Given the description of an element on the screen output the (x, y) to click on. 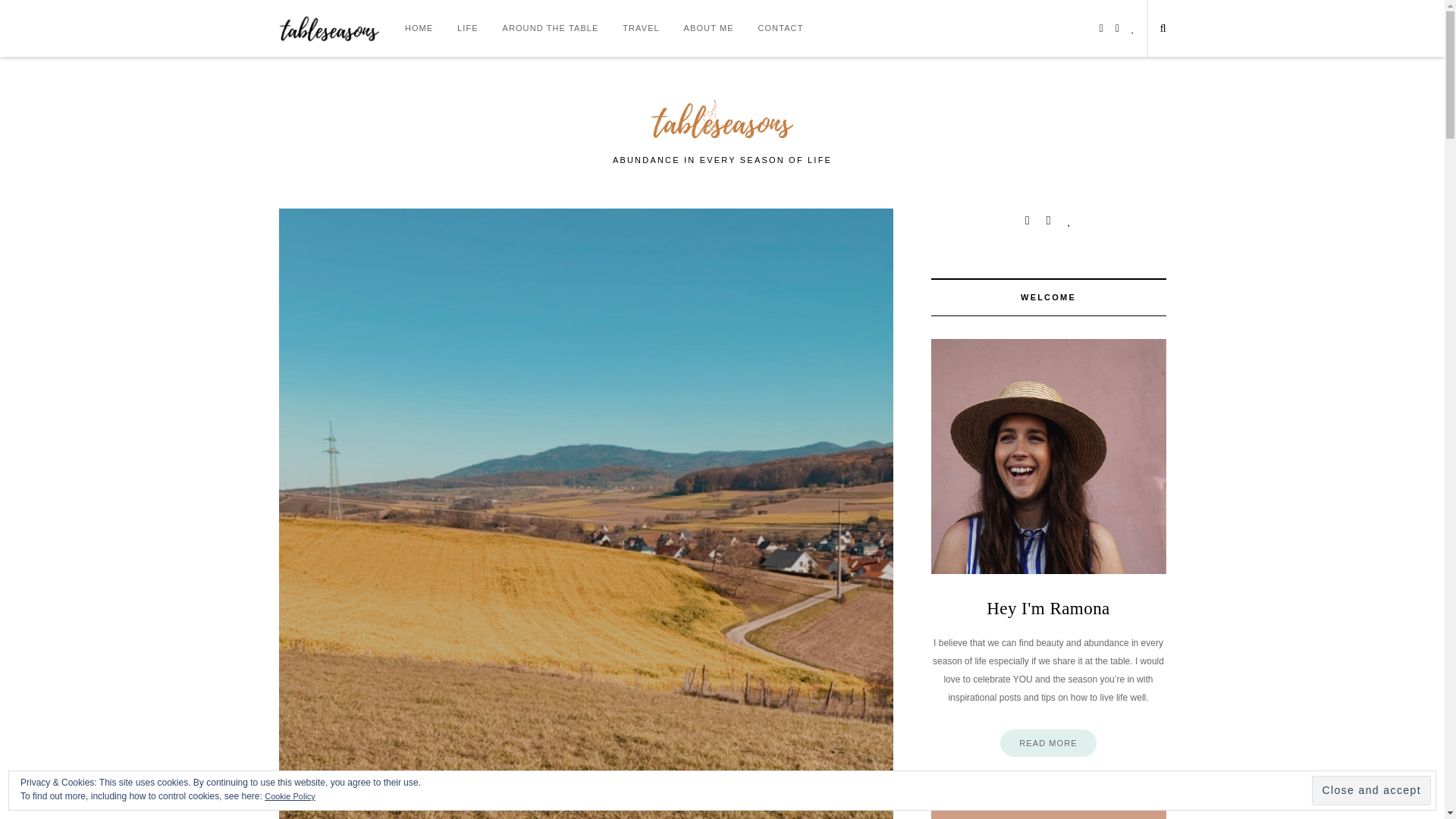
ABOUT ME (708, 28)
AROUND THE TABLE (550, 28)
Close and accept (1371, 790)
